Given the description of an element on the screen output the (x, y) to click on. 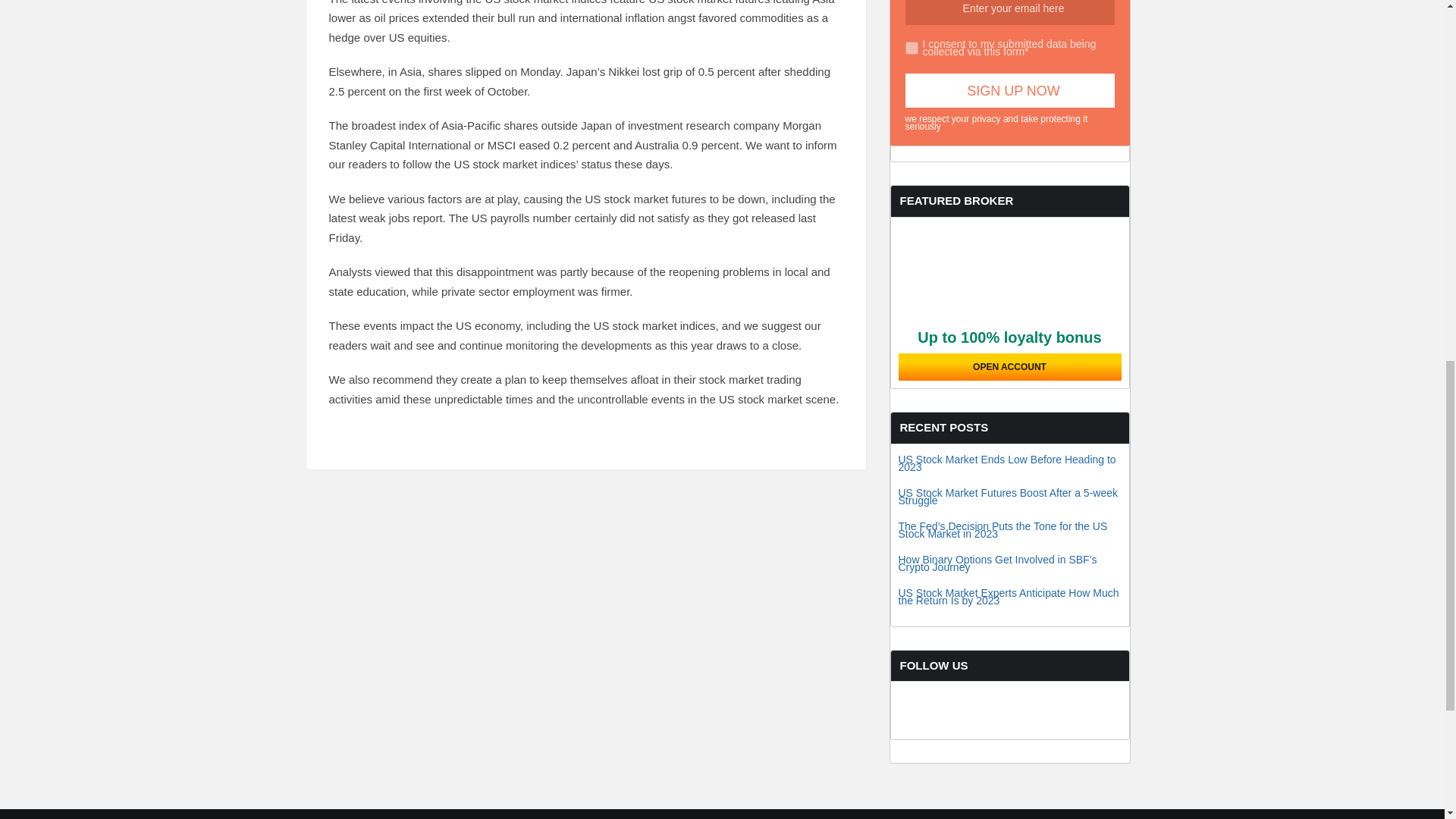
Sign Up Now (1010, 90)
Enter your email here (1010, 12)
Follow us on Twitter (984, 730)
on (911, 47)
Follow us on Facebook (926, 730)
